Given the description of an element on the screen output the (x, y) to click on. 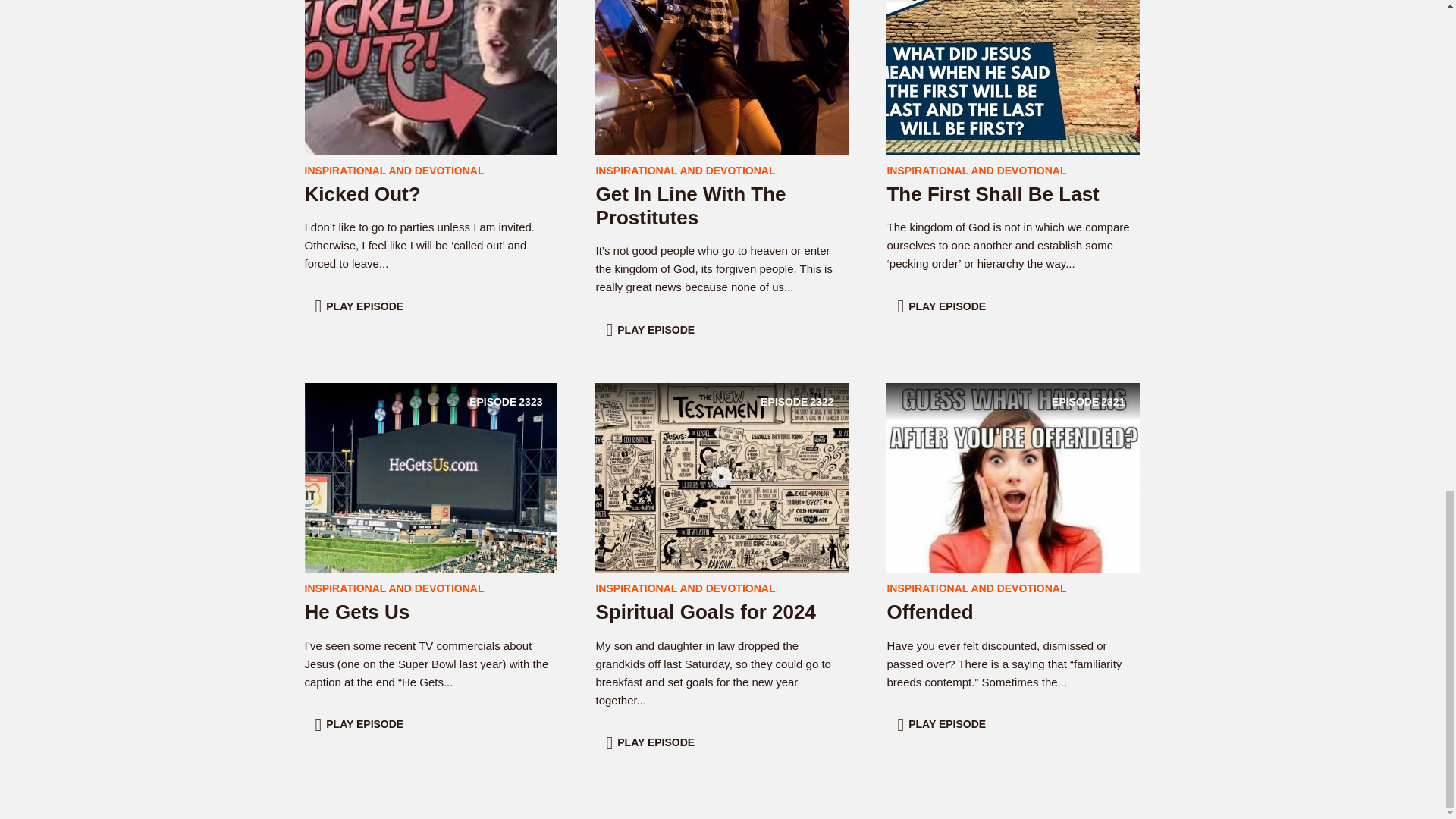
The First Shall Be Last (721, 477)
INSPIRATIONAL AND DEVOTIONAL (992, 193)
PLAY EPISODE (975, 588)
Spiritual Goals for 2024 (652, 329)
Kicked Out? (705, 611)
PLAY EPISODE (362, 193)
INSPIRATIONAL AND DEVOTIONAL (361, 725)
Get In Line With The Prostitutes (721, 59)
PLAY EPISODE (684, 170)
PLAY EPISODE (430, 59)
INSPIRATIONAL AND DEVOTIONAL (430, 477)
